Given the description of an element on the screen output the (x, y) to click on. 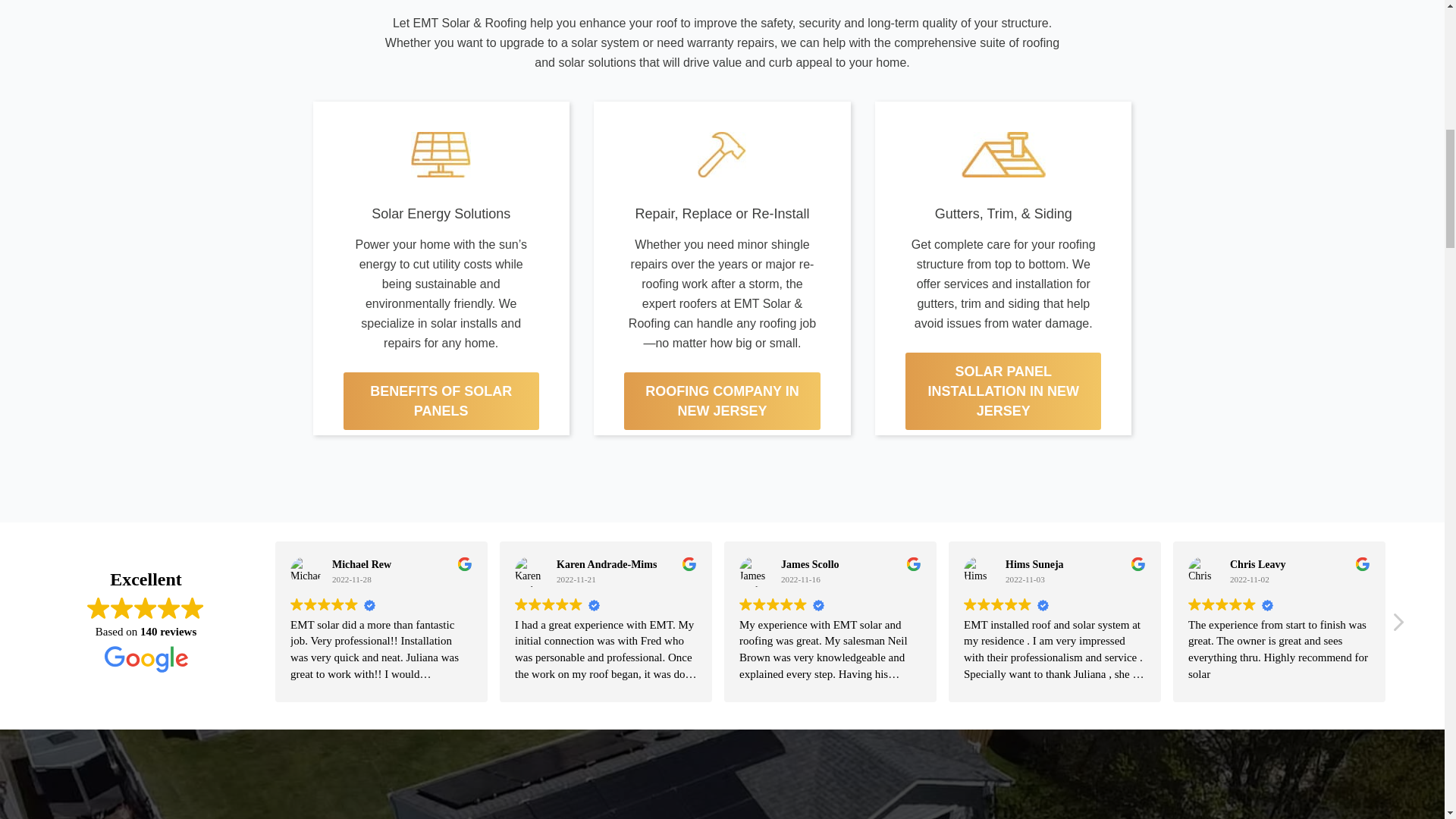
SOLAR PANEL INSTALLATION IN NEW JERSEY (1002, 390)
BENEFITS OF SOLAR PANELS (440, 400)
ROOFING COMPANY IN NEW JERSEY (721, 400)
